Given the description of an element on the screen output the (x, y) to click on. 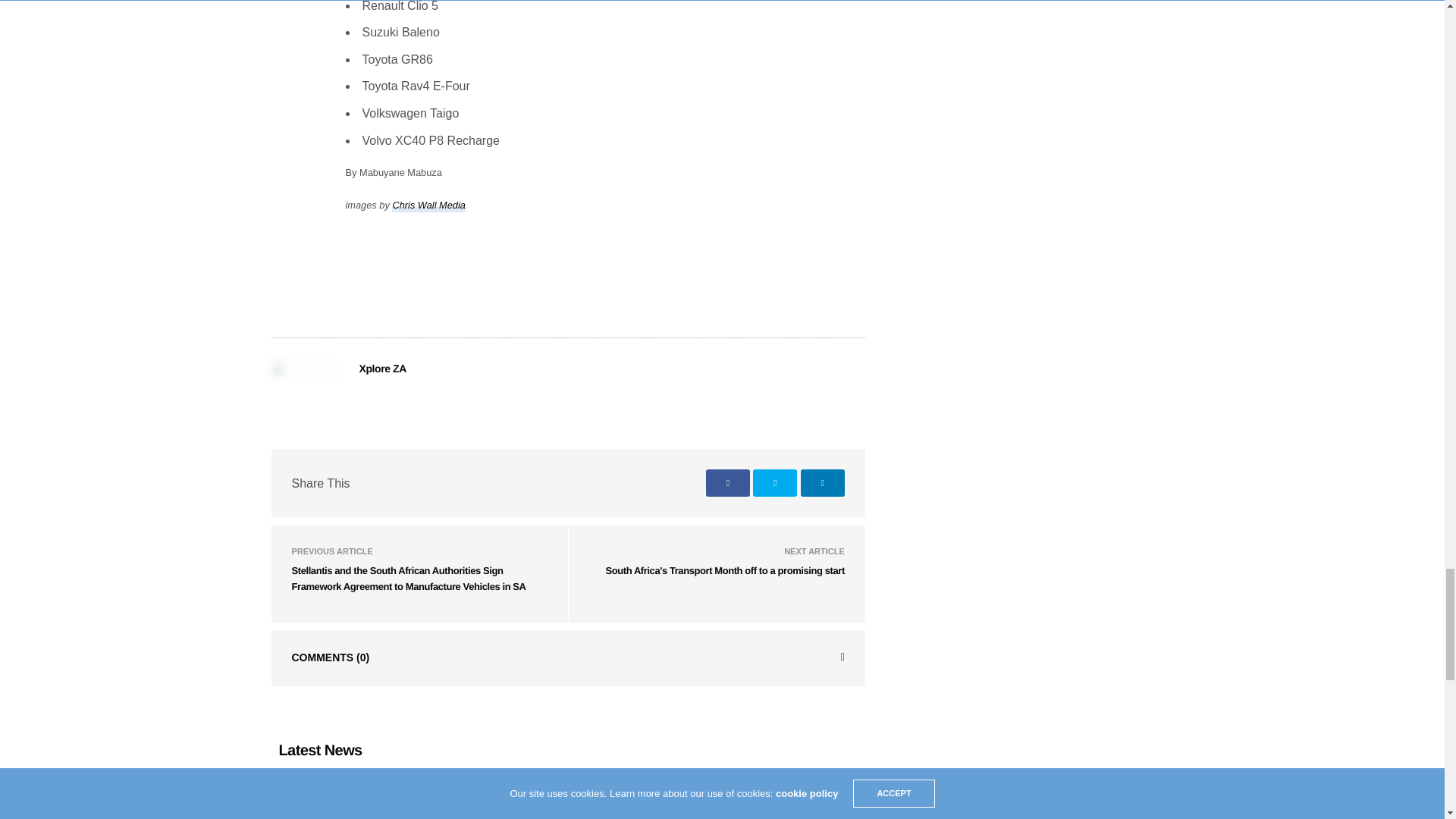
Chris Wall Media (428, 205)
ASK MABS: Buying a car at an auction (608, 810)
The second-generation BMW X2 exceeds expectations. (381, 810)
South Africa's Transport Month off to a promising start (724, 570)
